Given the description of an element on the screen output the (x, y) to click on. 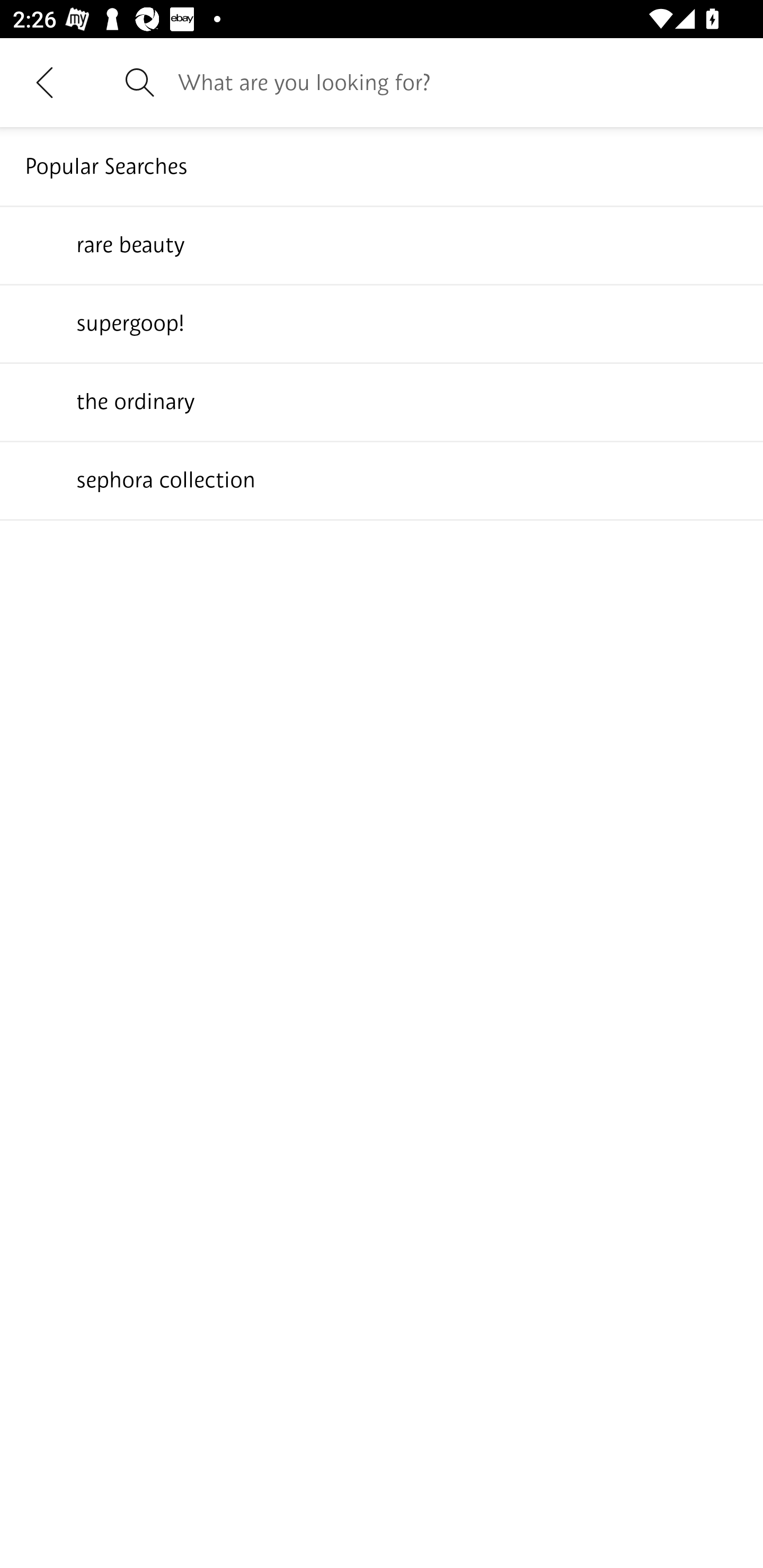
Navigate up (44, 82)
What are you looking for? (457, 82)
rare beauty (381, 244)
supergoop! (381, 322)
the ordinary (381, 401)
sephora collection (381, 479)
